Given the description of an element on the screen output the (x, y) to click on. 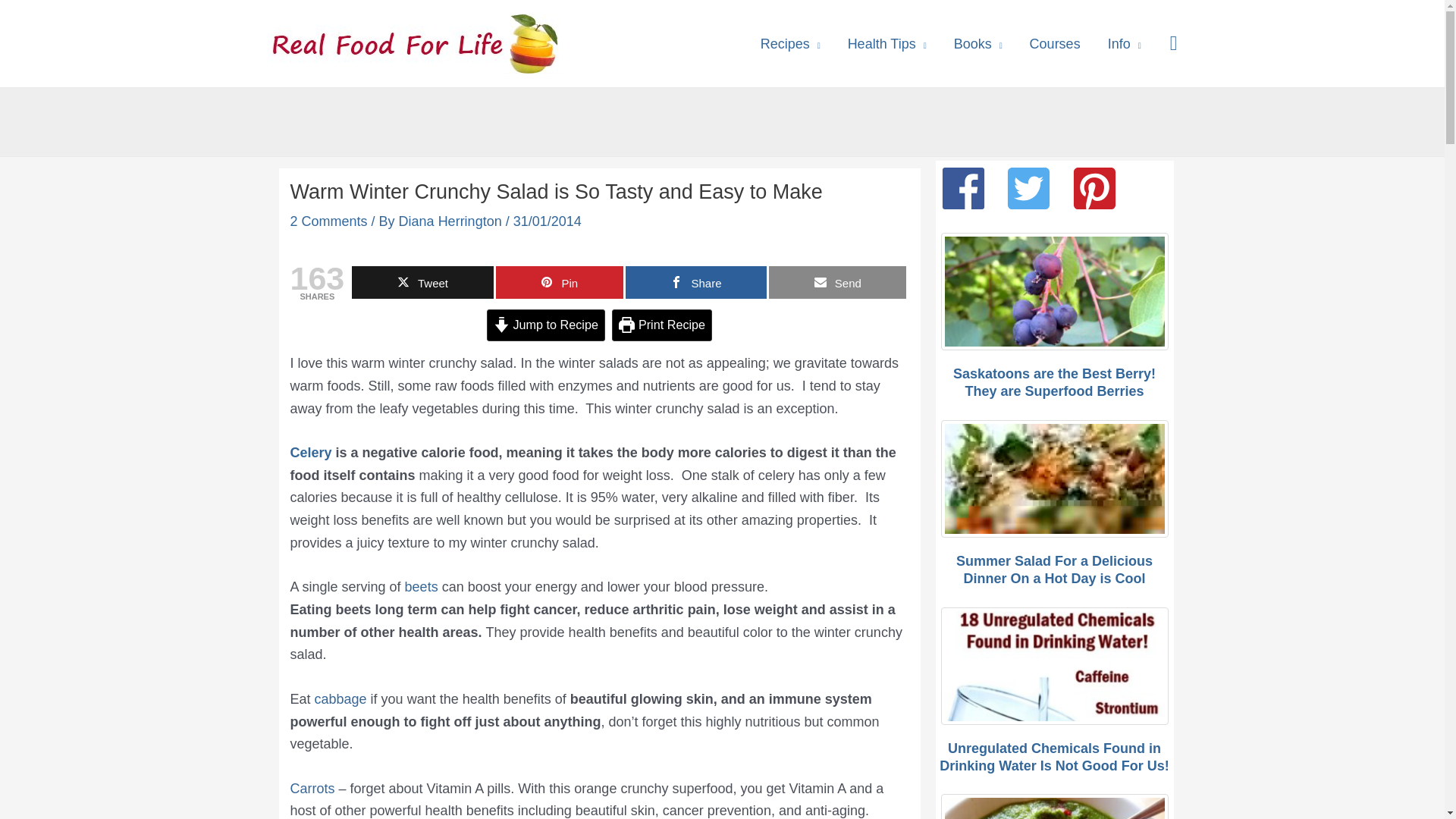
Books (978, 42)
Info (1124, 42)
Courses (1055, 42)
View all posts by Diana Herrington (451, 221)
Recipes (790, 42)
Health Tips (887, 42)
